Given the description of an element on the screen output the (x, y) to click on. 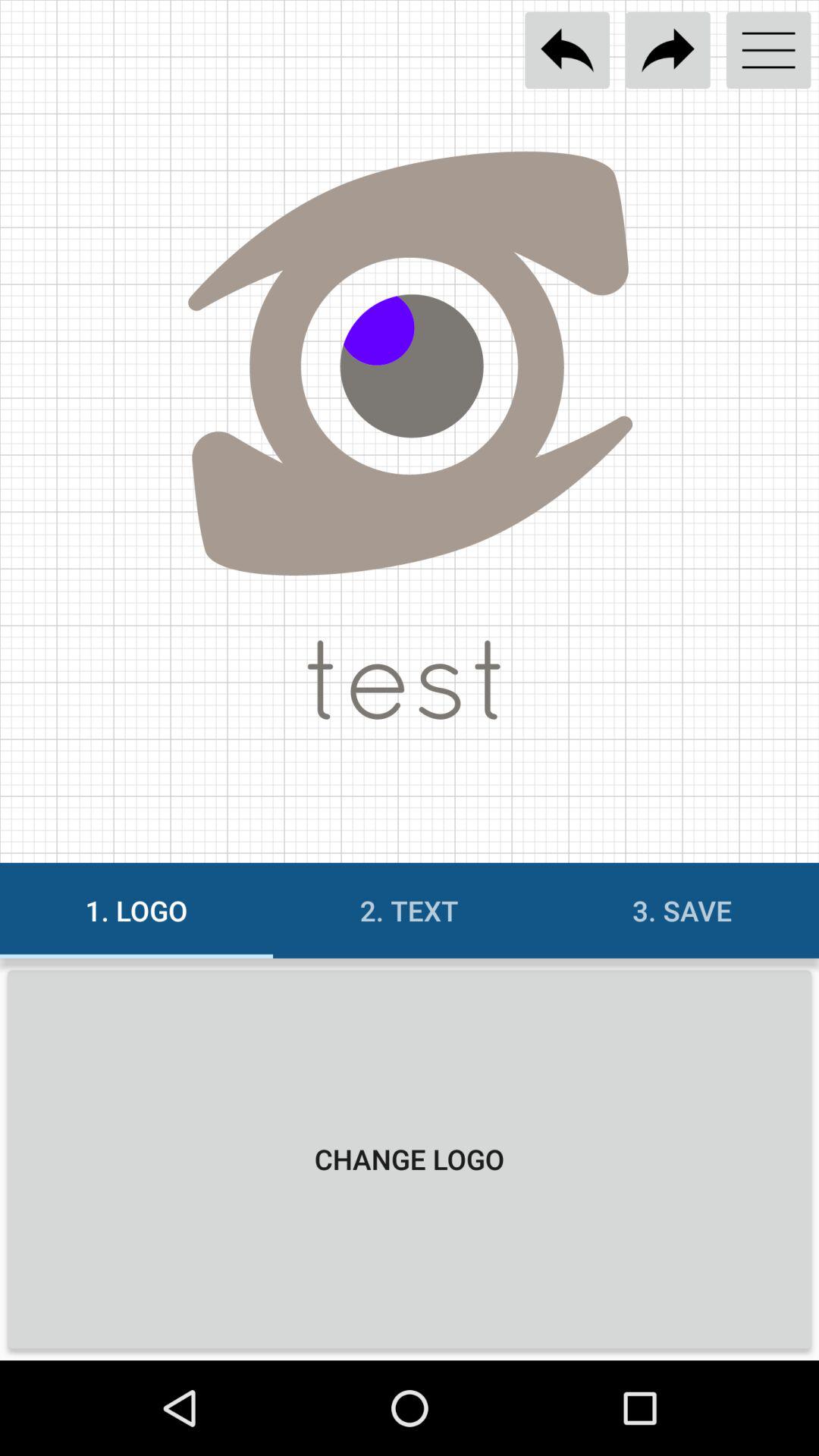
go to previous (566, 50)
